Given the description of an element on the screen output the (x, y) to click on. 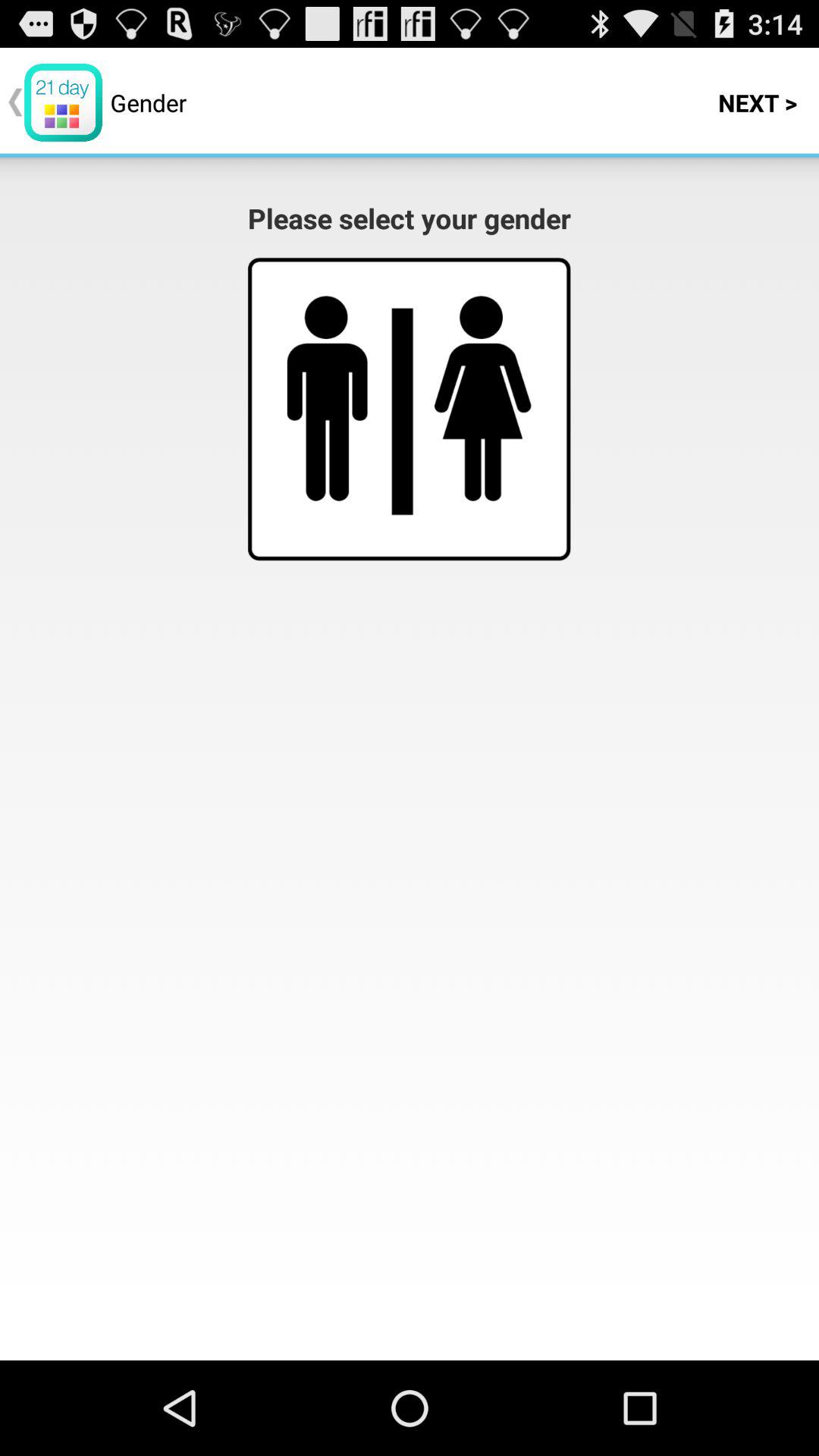
click on left figure (327, 398)
